Given the description of an element on the screen output the (x, y) to click on. 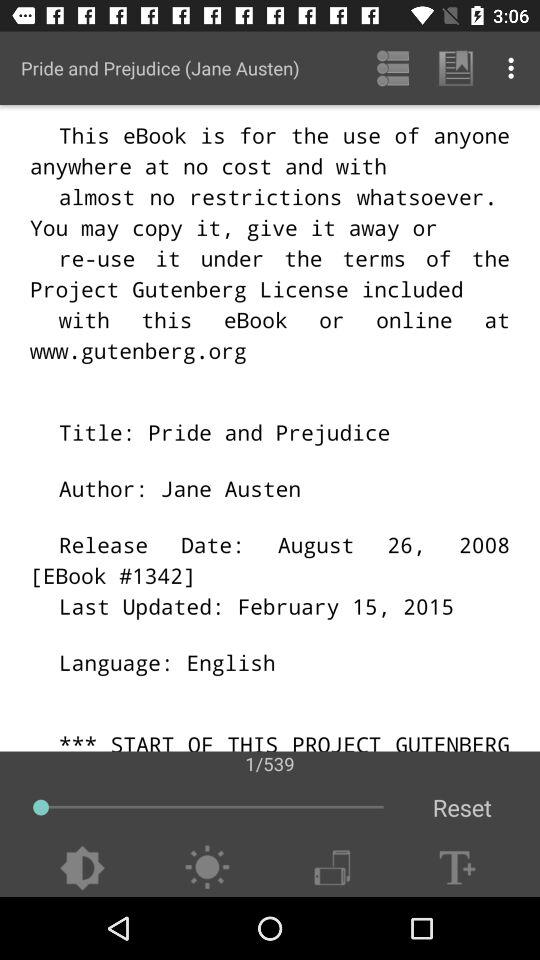
change mobile to vertical/horizontal (331, 867)
